Given the description of an element on the screen output the (x, y) to click on. 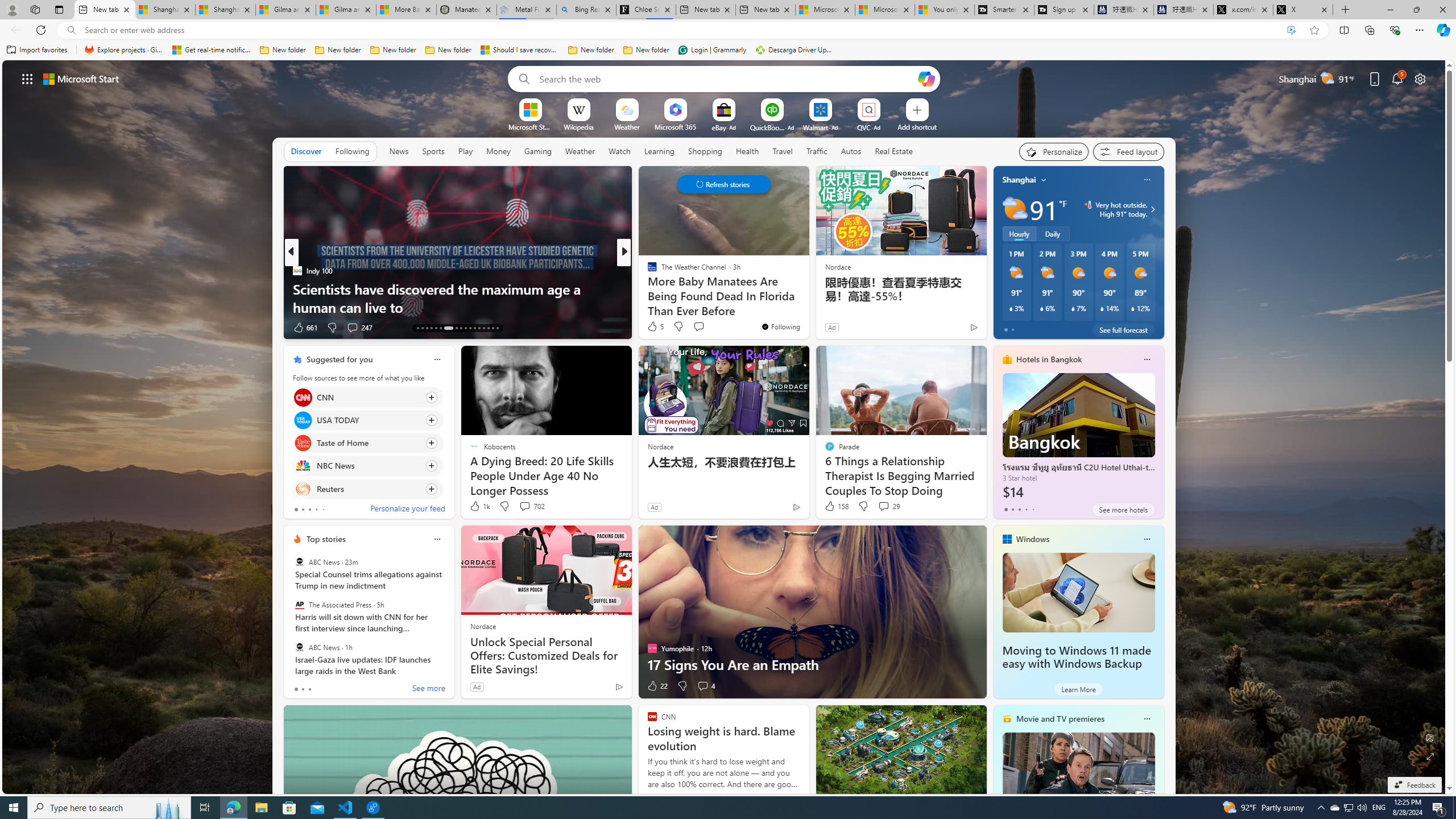
Moving to Windows 11 made easy with Windows Backup (1077, 592)
Health (746, 151)
AutomationID: tab-21 (460, 328)
View comments 25 Comment (698, 327)
hotels-header-icon (1006, 358)
The Verge (647, 270)
View comments 58 Comment (6, 327)
View comments 6 Comment (703, 327)
AutomationID: tab-23 (470, 328)
Shanghai (1018, 179)
